Given the description of an element on the screen output the (x, y) to click on. 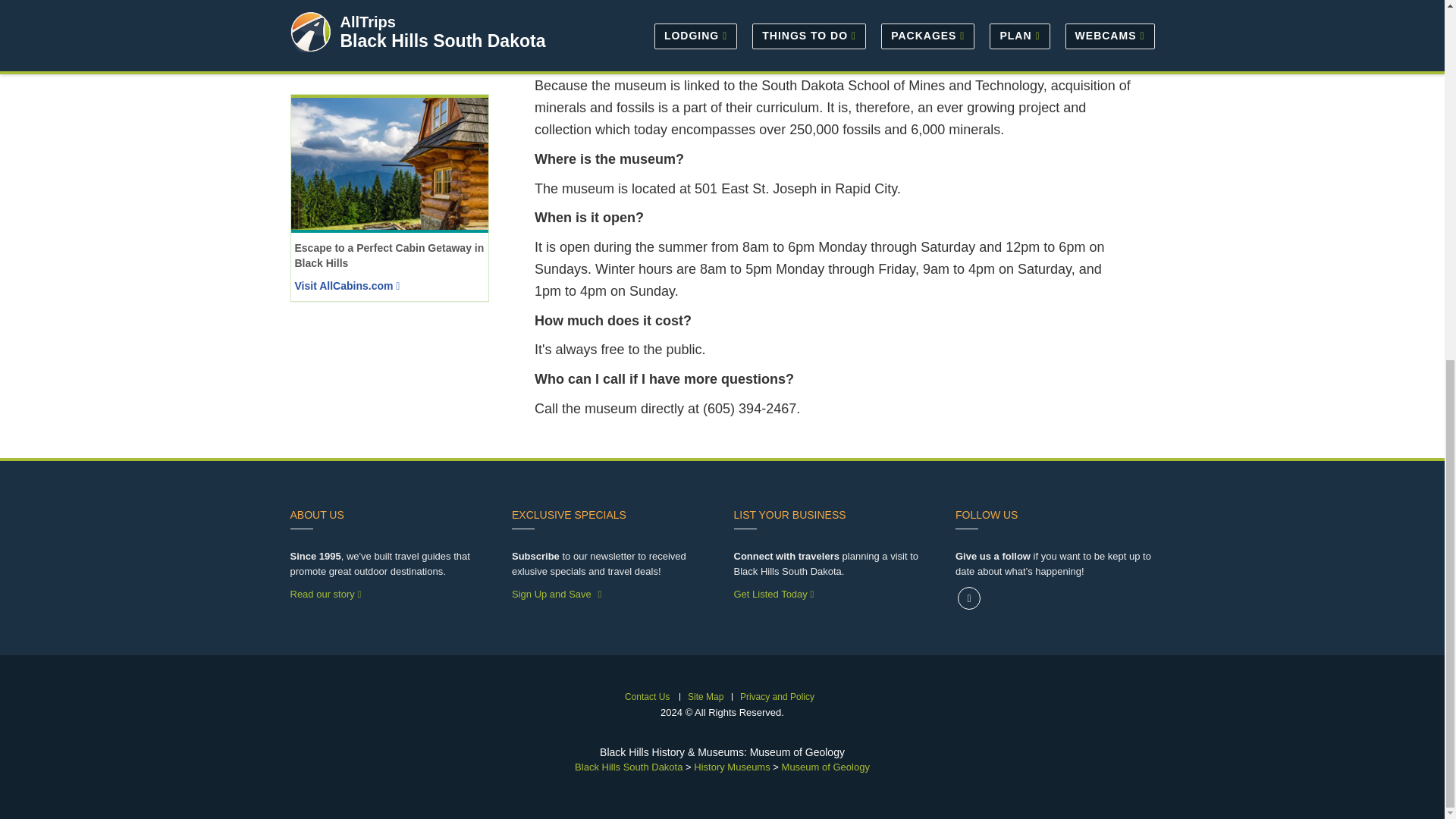
Museum of Geology (825, 767)
Black Hills South Dakota (628, 767)
History Museums (732, 767)
